Given the description of an element on the screen output the (x, y) to click on. 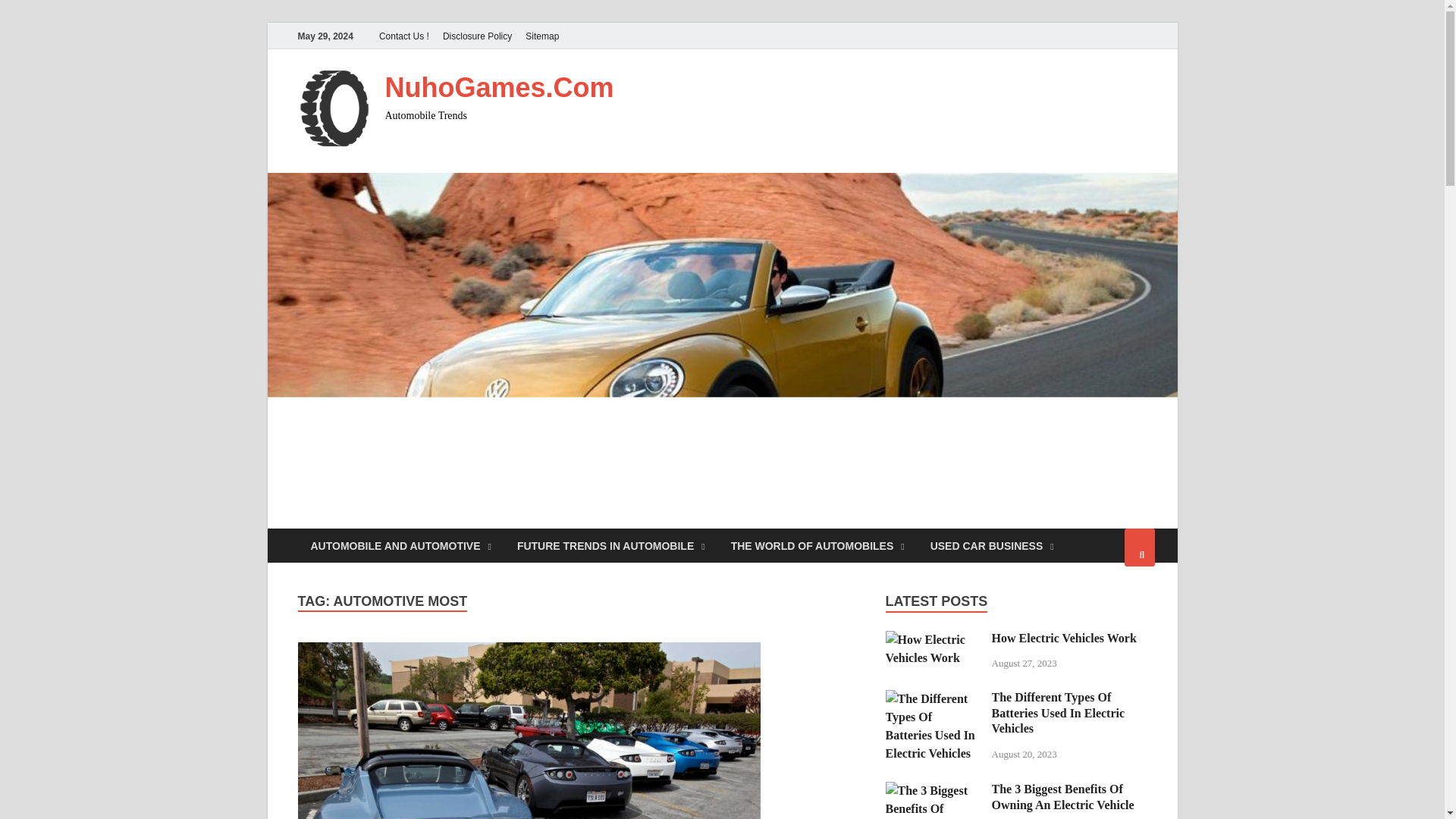
The Different Types Of Batteries Used In Electric Vehicles (932, 698)
NuhoGames.Com (499, 87)
THE WORLD OF AUTOMOBILES (817, 545)
The 3 Biggest Benefits Of Owning An Electric Vehicle (932, 789)
Disclosure Policy (476, 35)
USED CAR BUSINESS (992, 545)
Contact Us ! (403, 35)
AUTOMOBILE AND AUTOMOTIVE (400, 545)
FUTURE TRENDS IN AUTOMOBILE (610, 545)
Sitemap (542, 35)
How Electric Vehicles Work (932, 639)
